Given the description of an element on the screen output the (x, y) to click on. 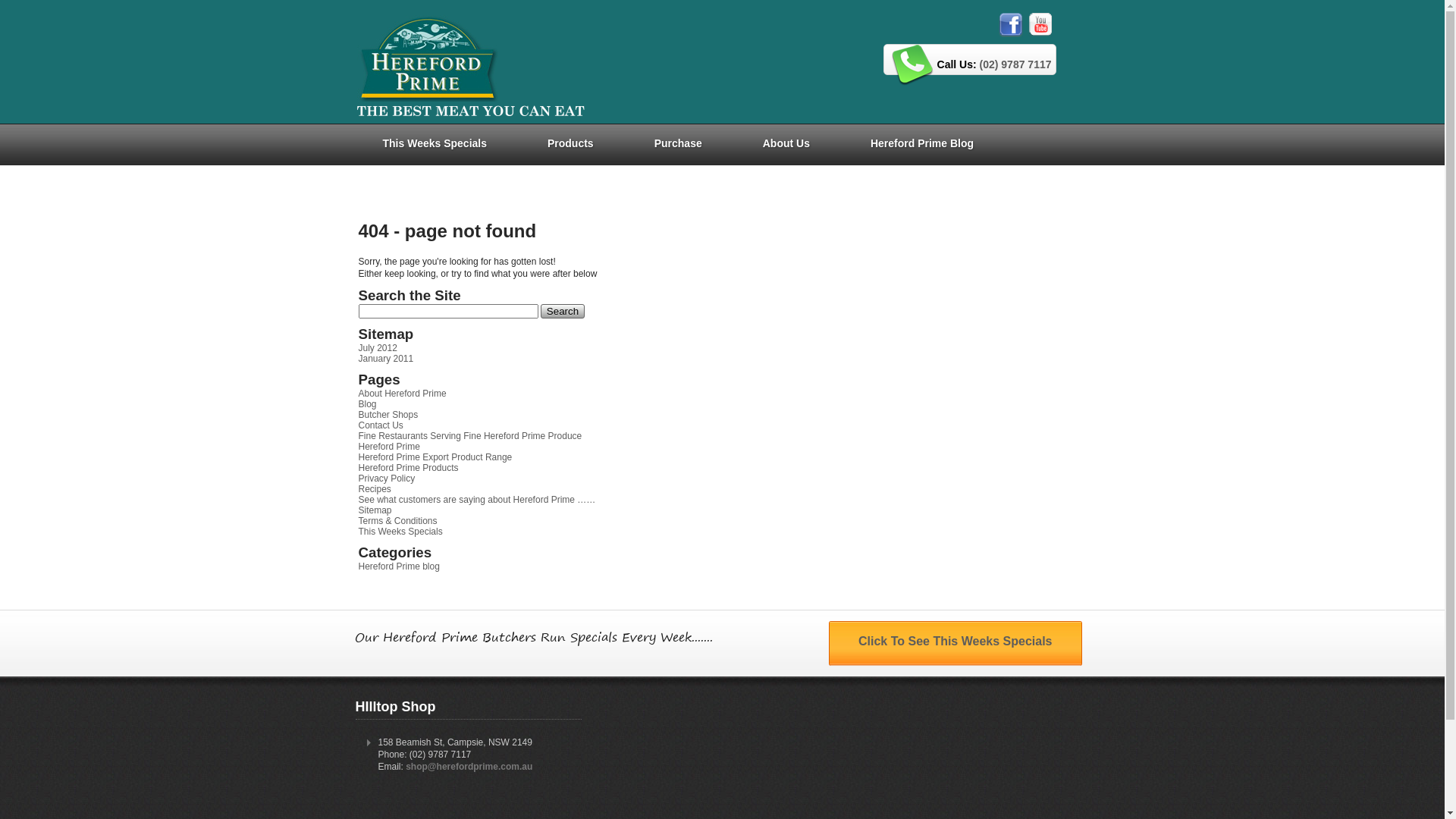
Terms & Conditions Element type: text (396, 520)
Search Element type: text (562, 311)
Sitemap Element type: text (374, 510)
Fine Restaurants Serving Fine Hereford Prime Produce Element type: text (469, 435)
This Weeks Specials Element type: text (399, 531)
Blog Element type: text (366, 403)
shop@herefordprime.com.au Element type: text (468, 766)
Hereford Prime blog Element type: text (398, 566)
About Us Element type: text (786, 143)
Hereford Prime Products Element type: text (407, 467)
Purchase Element type: text (678, 143)
Products Element type: text (570, 143)
July 2012 Element type: text (376, 347)
Hereford Prime Blog Element type: text (921, 143)
Hereford Prime Export Product Range Element type: text (434, 456)
This Weeks Specials Element type: text (433, 143)
Privacy Policy Element type: text (385, 478)
Hereford Prime Element type: text (388, 446)
Recipes Element type: text (373, 488)
January 2011 Element type: text (385, 358)
Butcher Shops Element type: text (387, 414)
About Hereford Prime Element type: text (401, 393)
Contact Us Element type: text (379, 425)
